Given the description of an element on the screen output the (x, y) to click on. 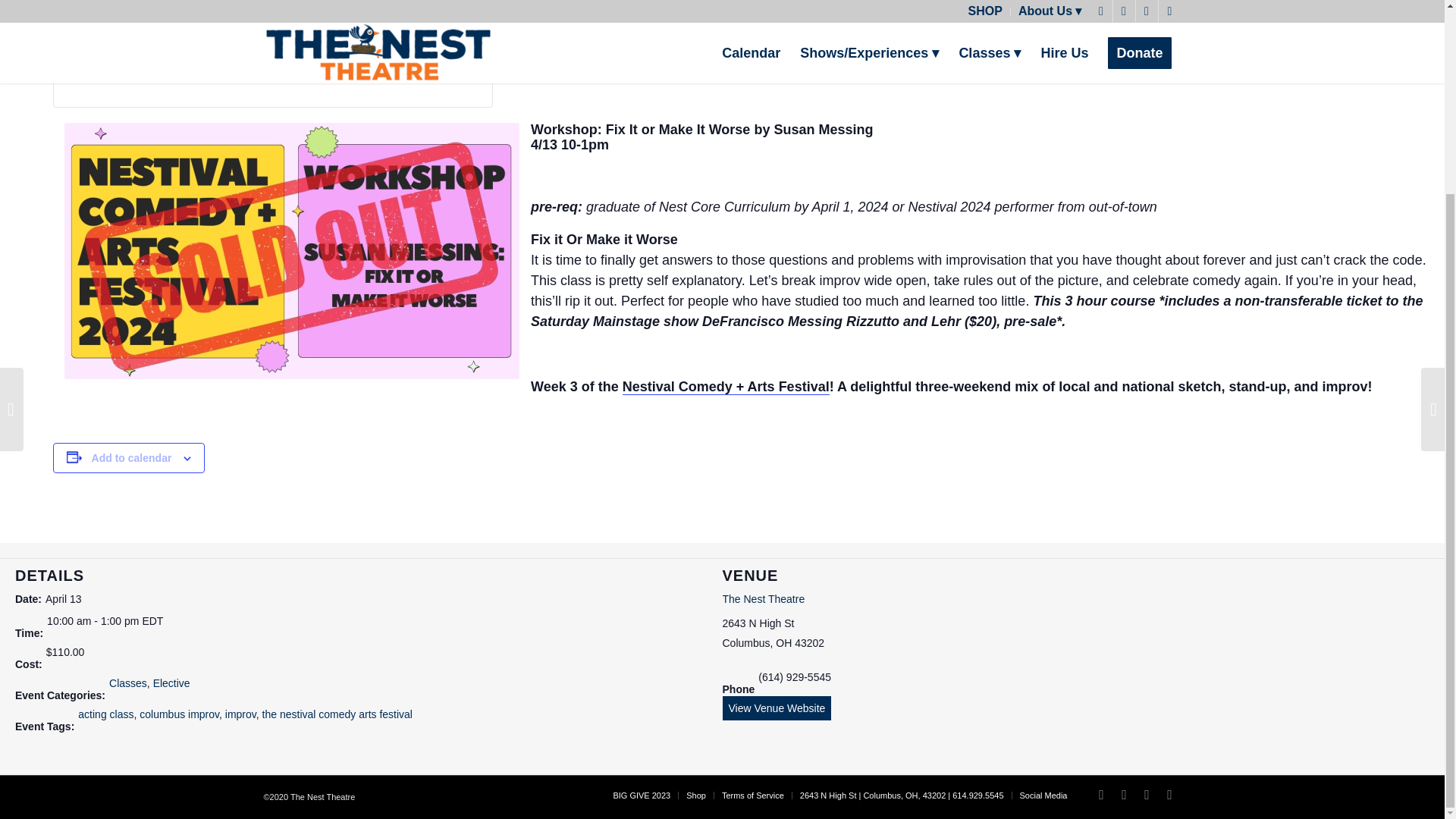
acting class (105, 714)
Classes (128, 683)
Add to calendar (131, 458)
improv (240, 714)
The Nest Theatre (763, 598)
Elective (171, 683)
columbus improv (179, 714)
2024-04-13 (63, 598)
the nestival comedy arts festival (337, 714)
Ohio (784, 643)
